Given the description of an element on the screen output the (x, y) to click on. 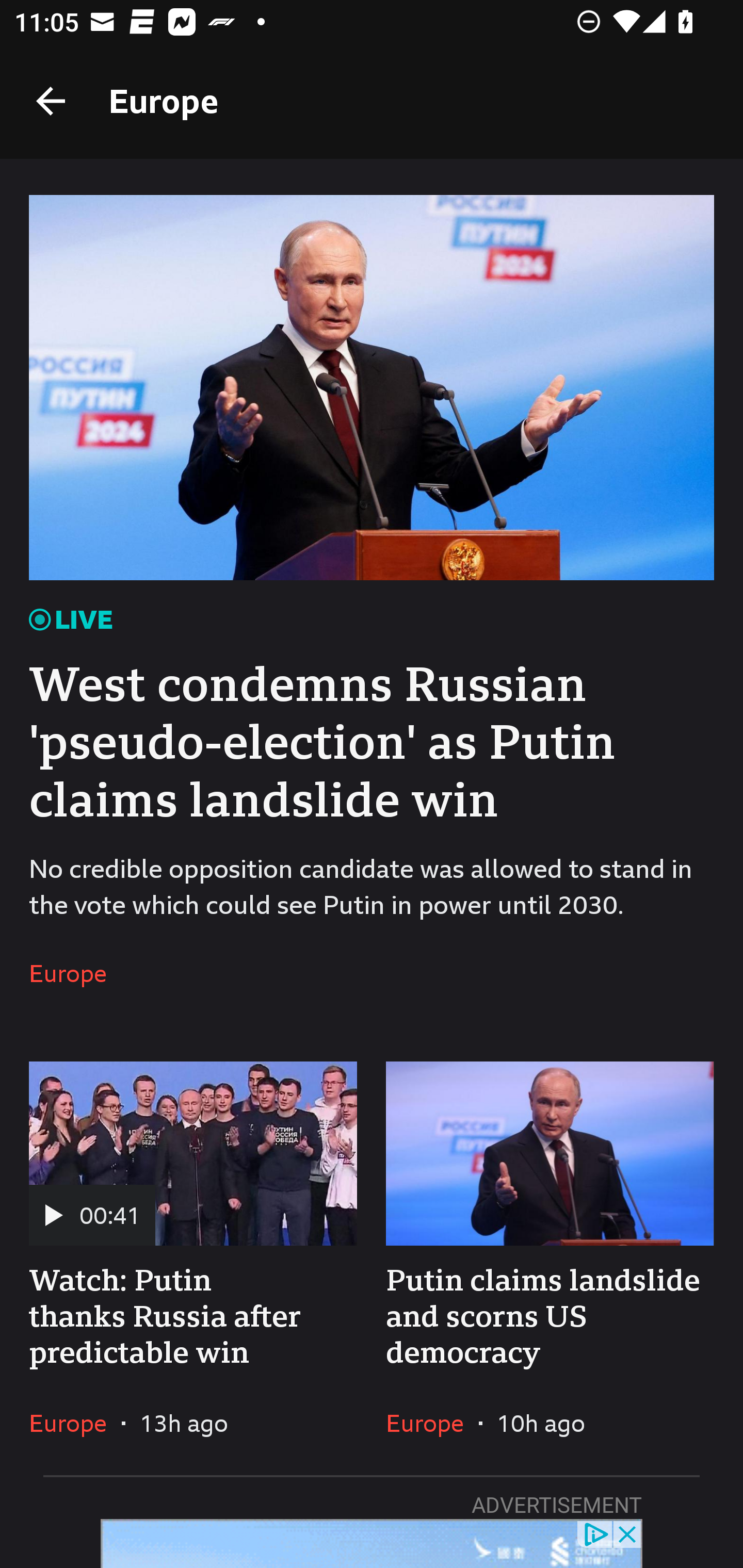
Back (50, 101)
Europe In the section Europe (74, 973)
Europe In the section Europe (74, 1422)
Europe In the section Europe (431, 1422)
privacy_small (595, 1533)
close_button (627, 1533)
